Given the description of an element on the screen output the (x, y) to click on. 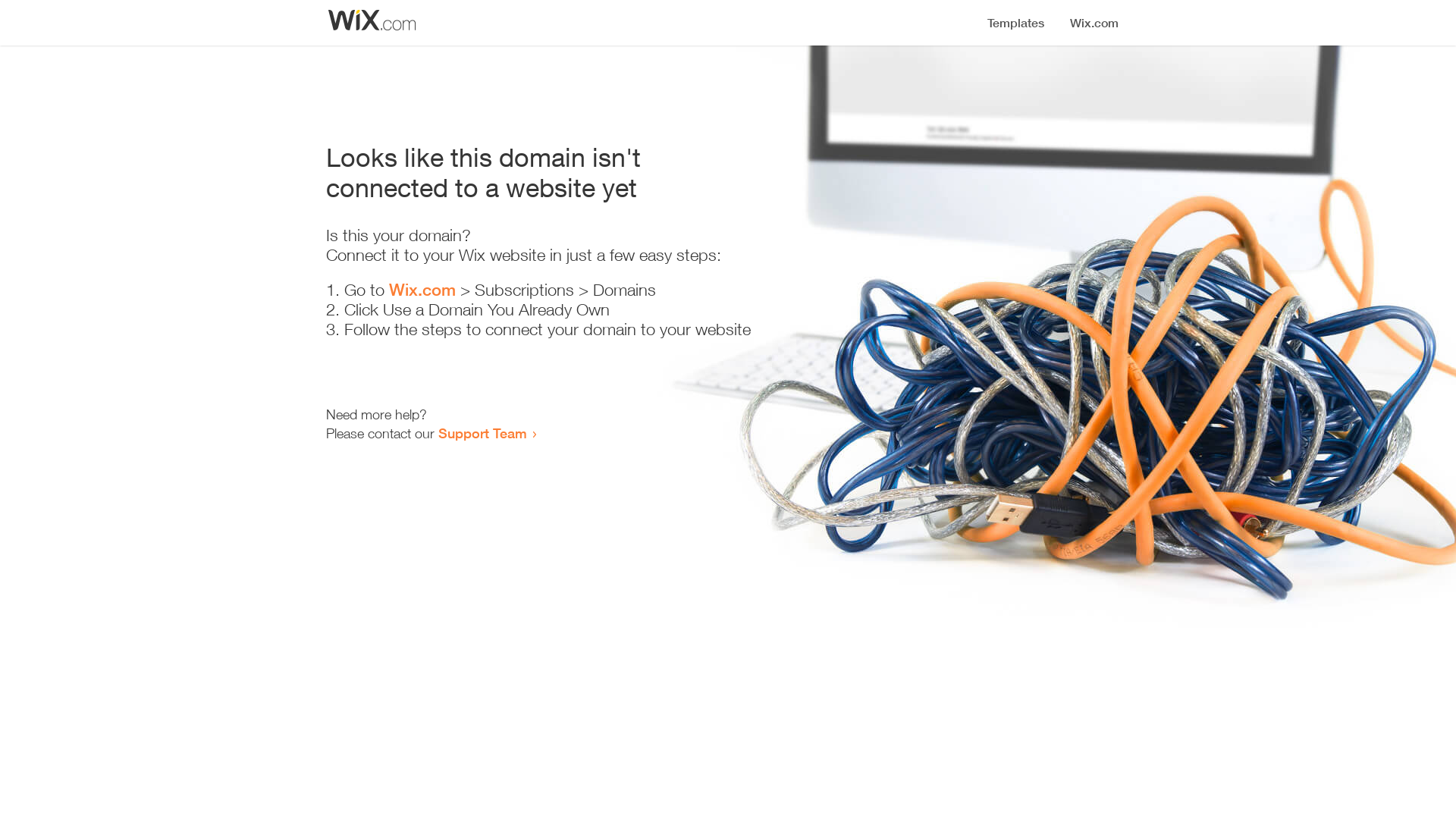
Wix.com Element type: text (422, 289)
Support Team Element type: text (482, 432)
